Given the description of an element on the screen output the (x, y) to click on. 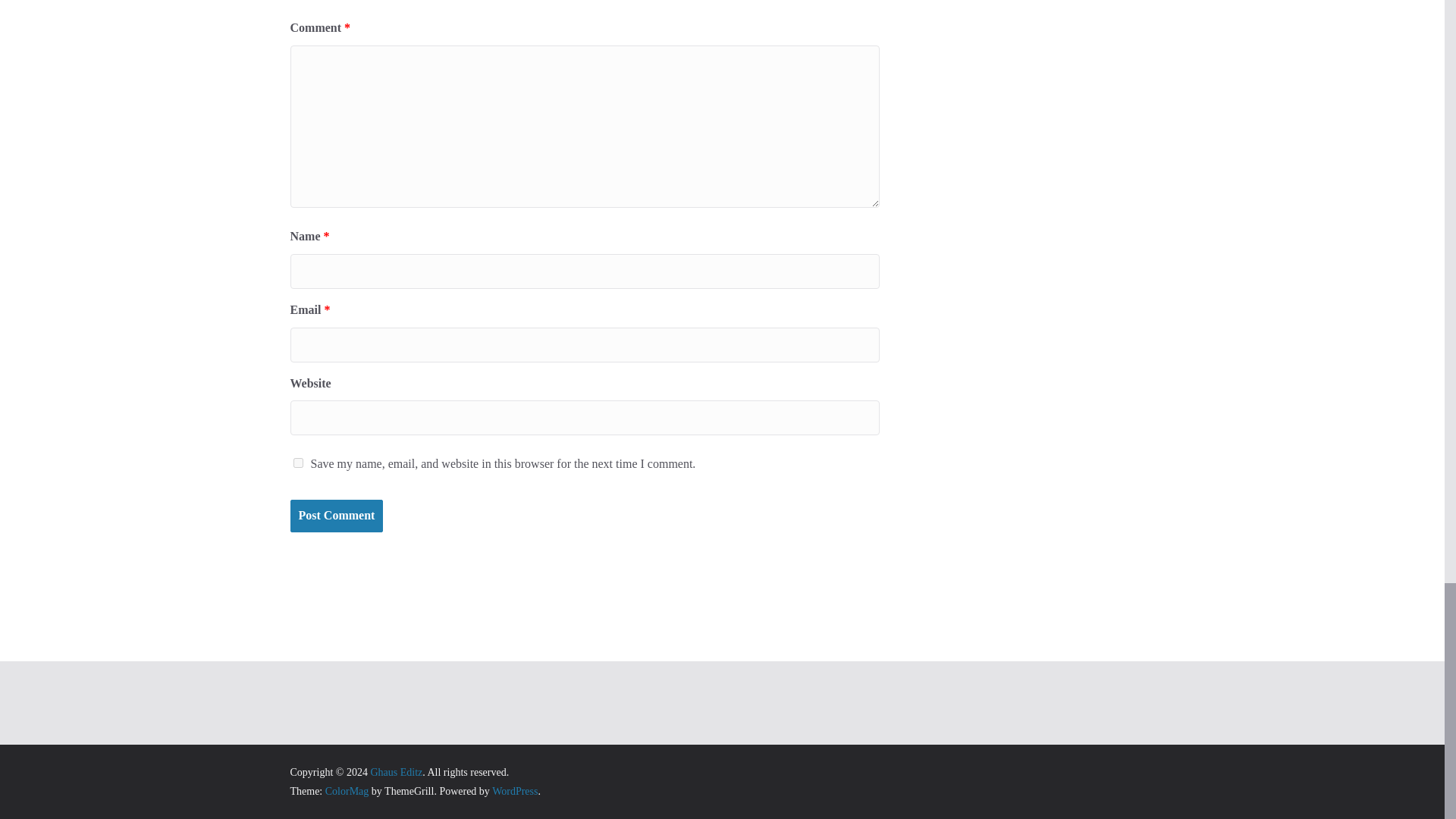
Post Comment (335, 515)
ColorMag (346, 790)
Post Comment (335, 515)
yes (297, 462)
Ghaus Editz (395, 772)
WordPress (514, 790)
Advertisement (721, 573)
Advertisement (721, 703)
